Given the description of an element on the screen output the (x, y) to click on. 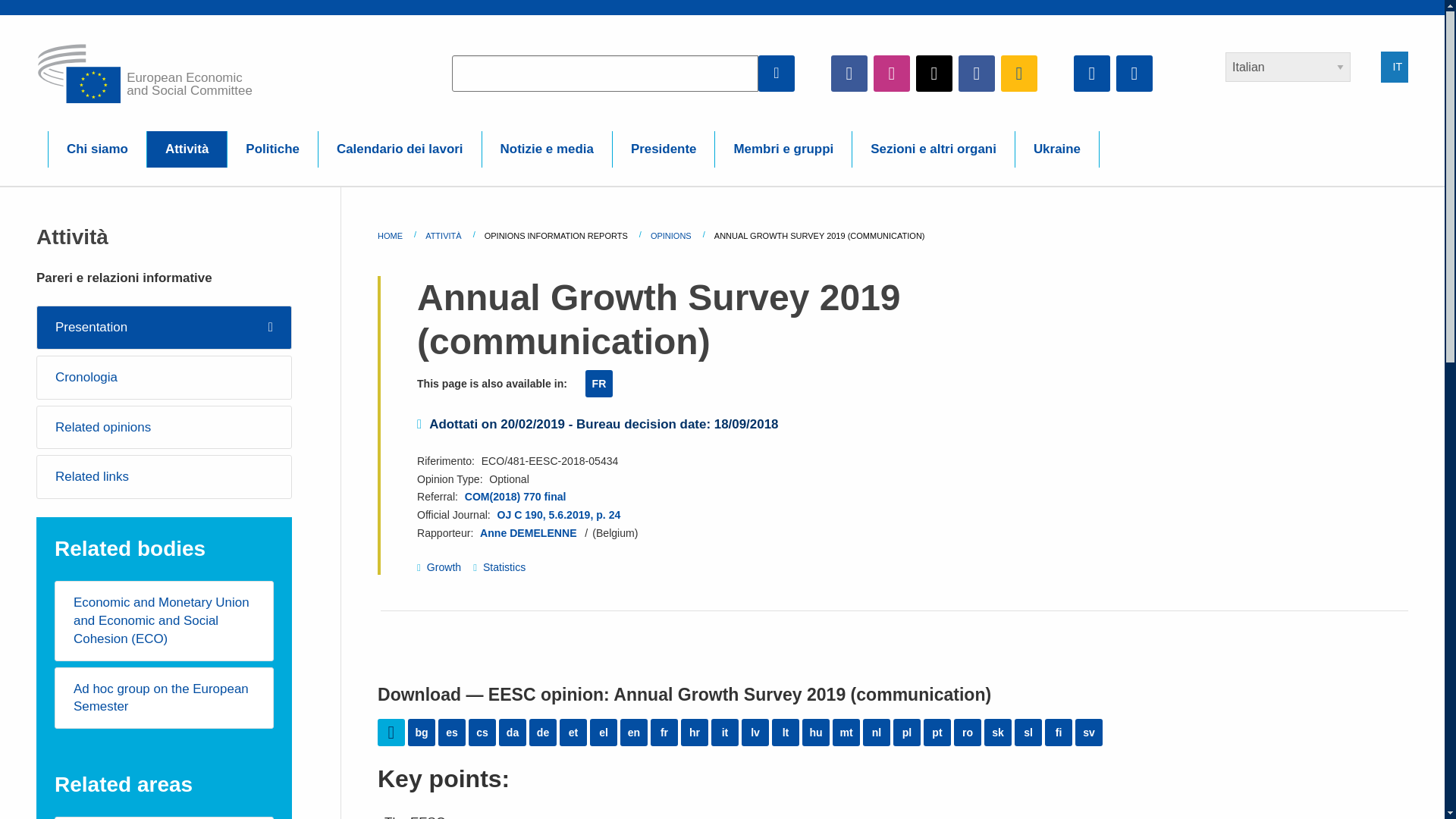
Apply (776, 72)
